Given the description of an element on the screen output the (x, y) to click on. 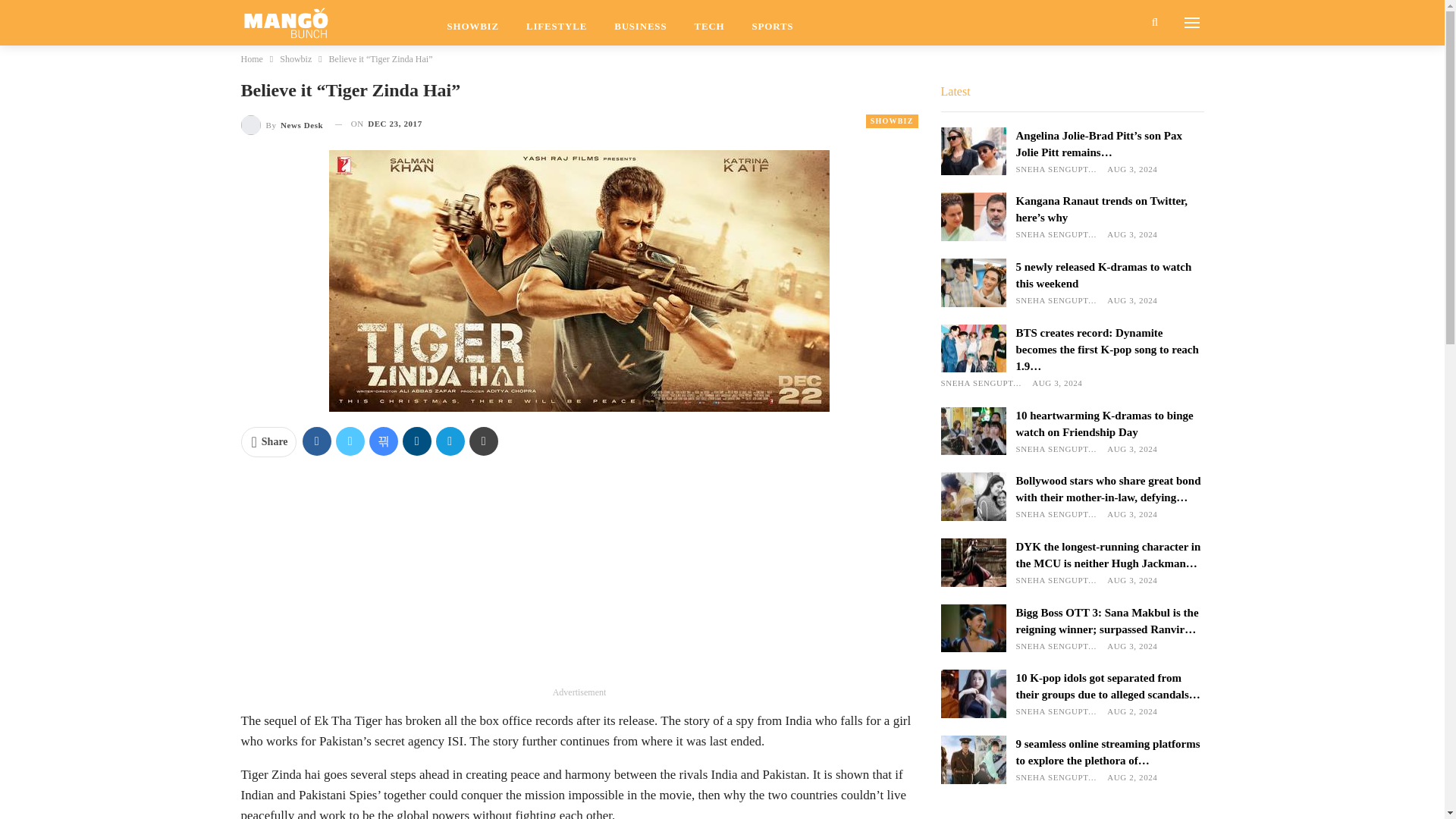
SHOWBIZ (892, 120)
SHOWBIZ (472, 22)
TECH (708, 22)
BUSINESS (639, 22)
Showbiz (295, 58)
By News Desk (282, 123)
Browse Author Articles (282, 123)
Home (252, 58)
SPORTS (772, 22)
LIFESTYLE (555, 22)
